Given the description of an element on the screen output the (x, y) to click on. 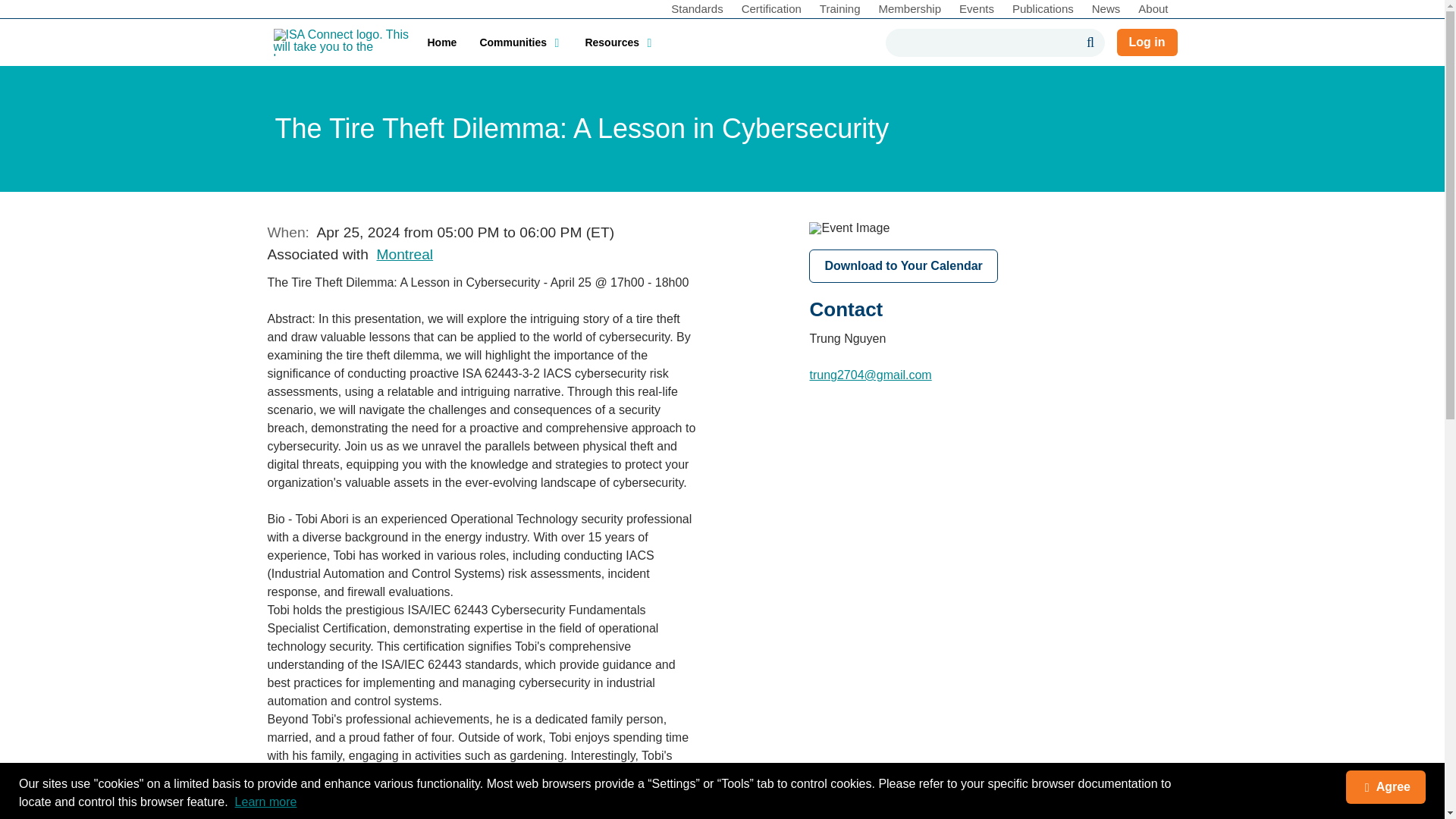
Montreal (403, 254)
Standards (697, 10)
Publications (1043, 10)
search (982, 42)
 Agree (1385, 786)
Home (440, 42)
Certification (771, 10)
Events (976, 10)
Download to Your Calendar (903, 265)
Training (839, 10)
Download to Your Calendar (903, 265)
Resources (619, 42)
Communities (520, 42)
Log in (1146, 42)
News (1106, 10)
